Given the description of an element on the screen output the (x, y) to click on. 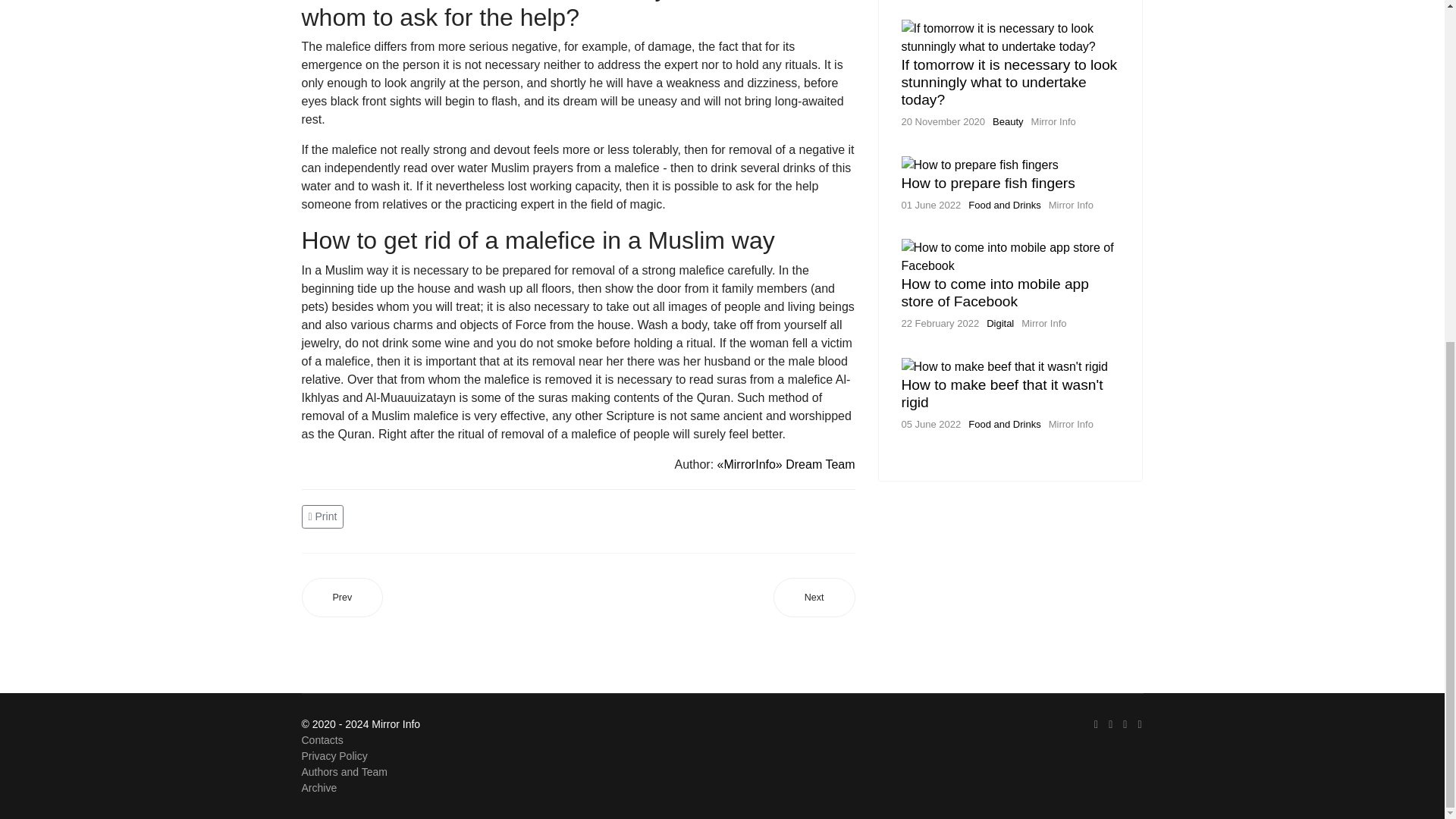
Beauty (1007, 121)
As it is correct to choose a teenage coat for girls (814, 598)
How to dress the child it is fashionable and inexpensive (342, 598)
Print (324, 514)
Next (814, 598)
Prev (342, 598)
